Given the description of an element on the screen output the (x, y) to click on. 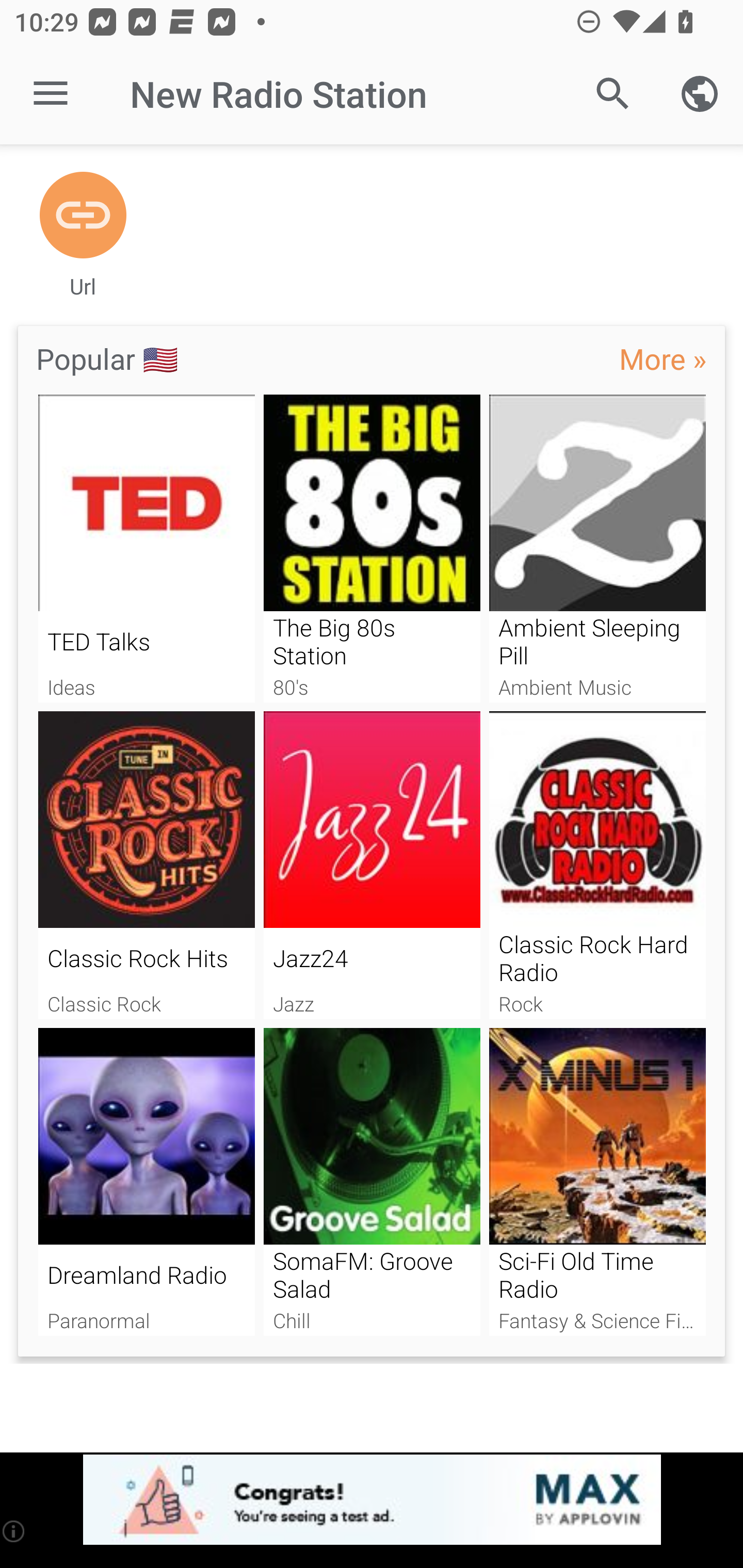
Open navigation sidebar (50, 93)
Search (612, 93)
Podcast languages (699, 93)
RSS (82, 215)
More » (662, 357)
TED Talks Ideas (145, 548)
The Big 80s Station 80's (371, 548)
Ambient Sleeping Pill Ambient Music (596, 548)
Classic Rock Hits Classic Rock (145, 865)
Jazz24 Jazz (371, 865)
Classic Rock Hard Radio Rock (596, 865)
Dreamland Radio Paranormal (145, 1181)
SomaFM: Groove Salad Chill (371, 1181)
app-monetization (371, 1500)
(i) (14, 1531)
